Given the description of an element on the screen output the (x, y) to click on. 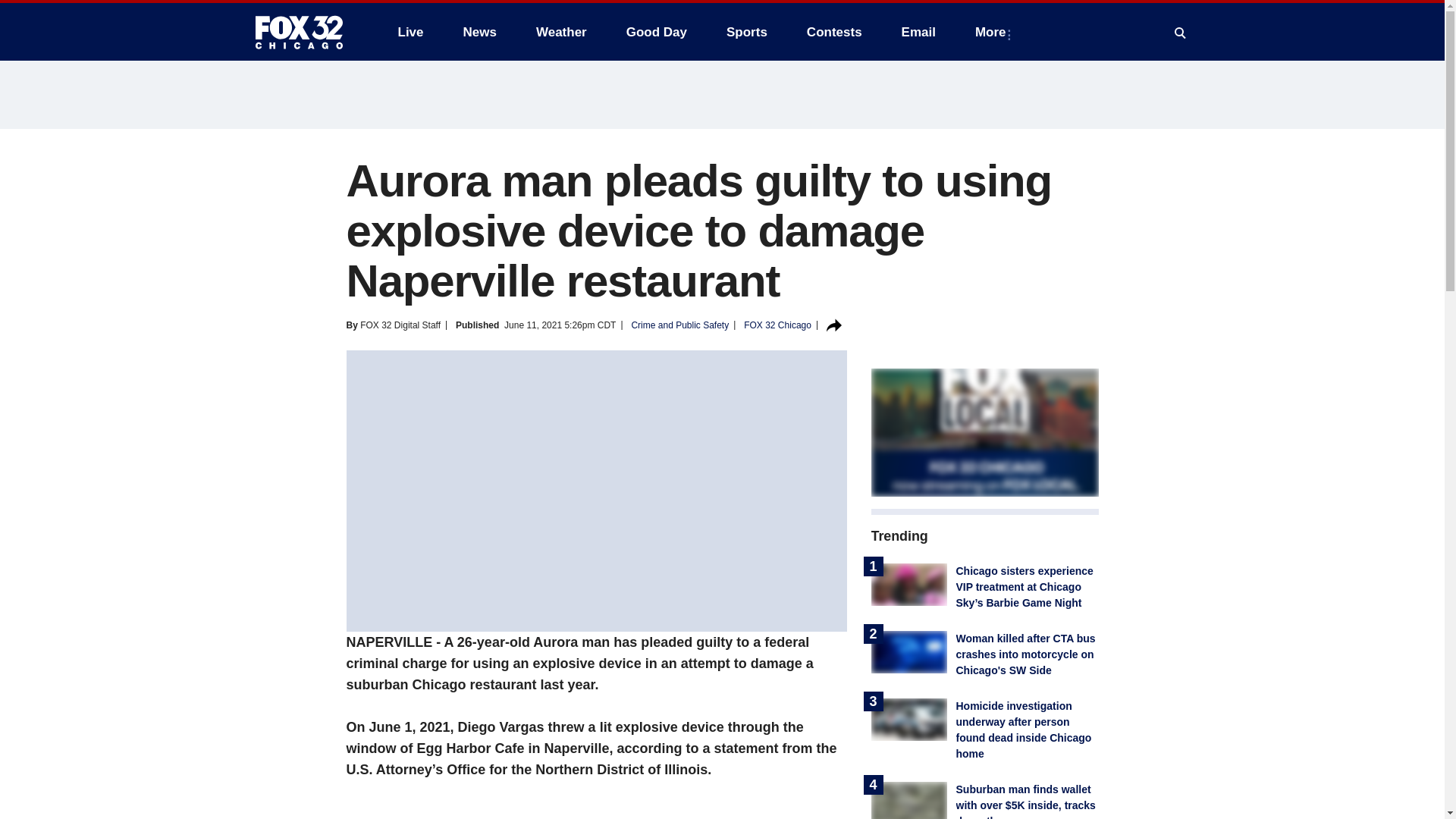
News (479, 32)
Contests (834, 32)
Email (918, 32)
Sports (746, 32)
Live (410, 32)
Weather (561, 32)
More (993, 32)
Good Day (656, 32)
